Given the description of an element on the screen output the (x, y) to click on. 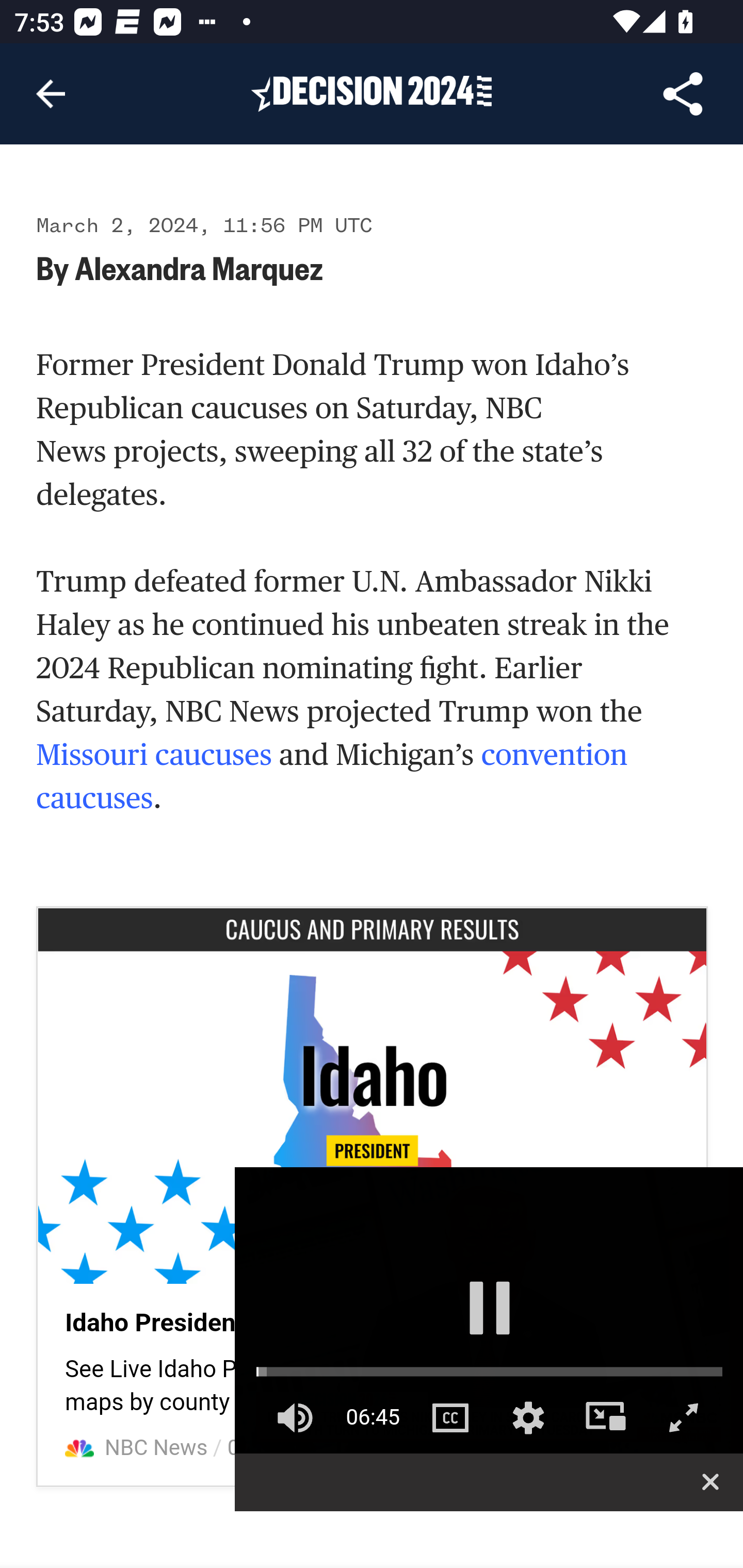
Navigate up (50, 93)
Share Article, button (683, 94)
Header, Decision 2024 (371, 93)
Missouri caucuses (154, 756)
convention caucuses (332, 777)
NBC News (156, 1448)
